Given the description of an element on the screen output the (x, y) to click on. 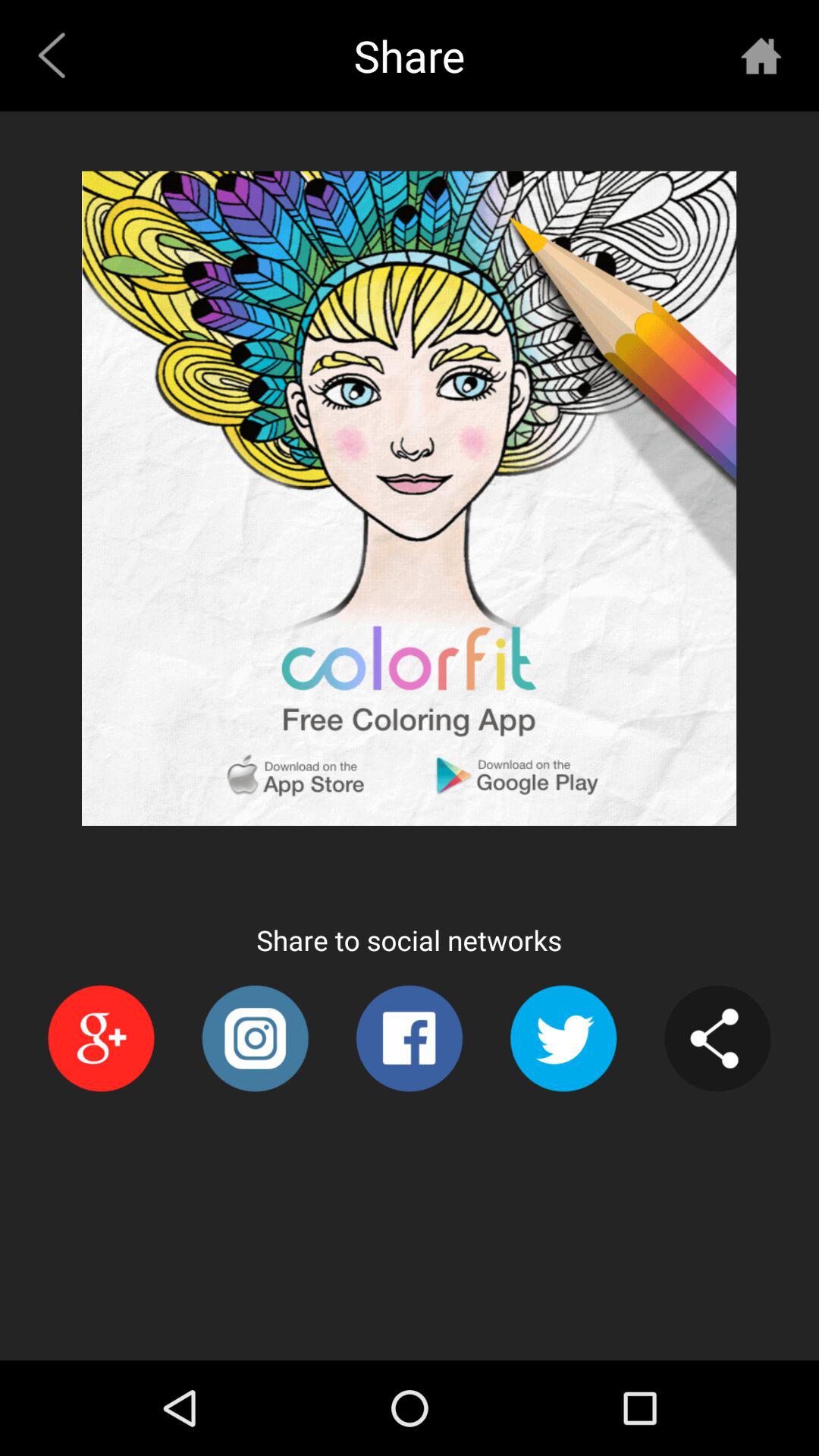
go back (57, 55)
